Given the description of an element on the screen output the (x, y) to click on. 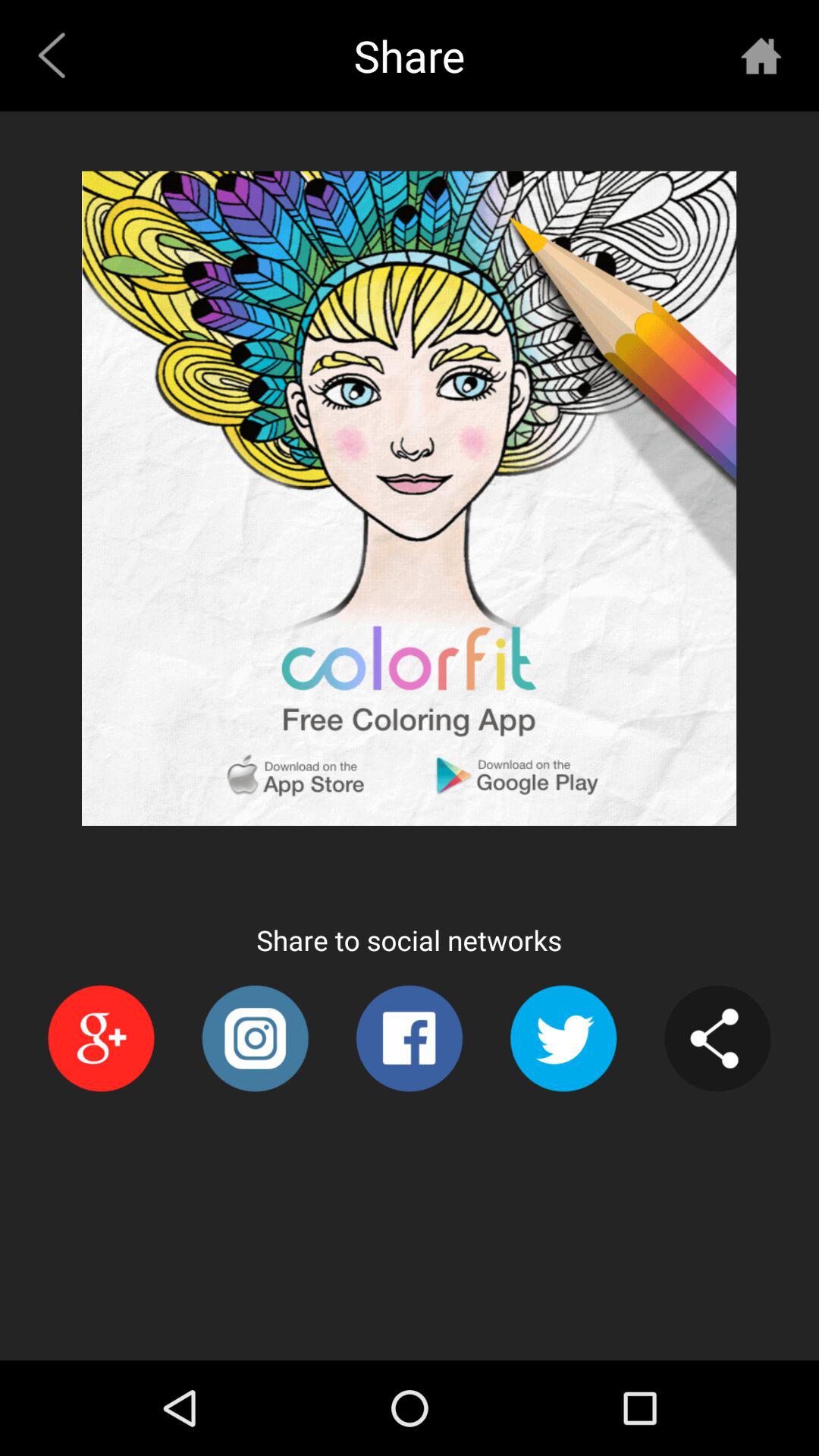
go back (57, 55)
